Given the description of an element on the screen output the (x, y) to click on. 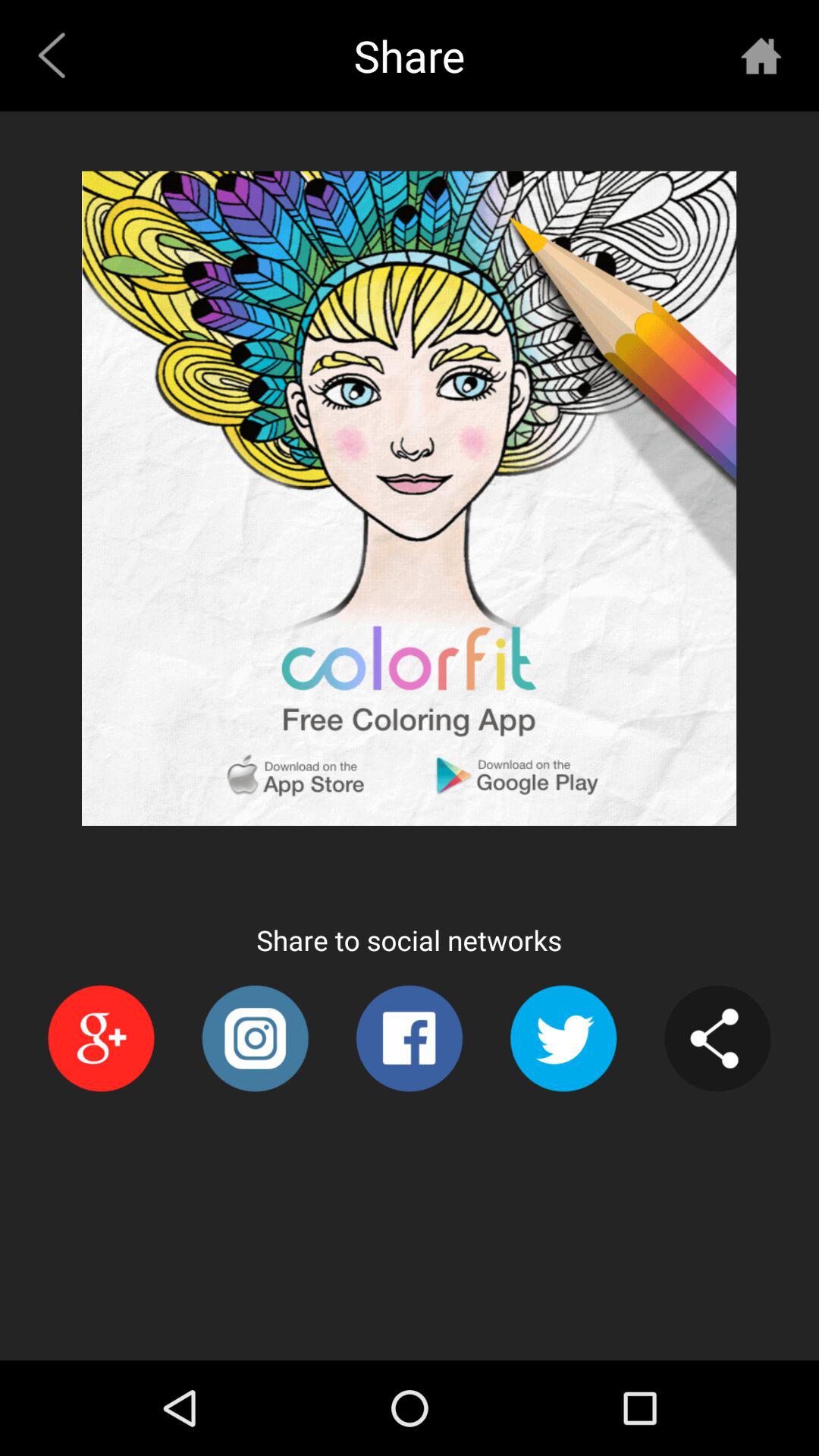
go back (57, 55)
